Given the description of an element on the screen output the (x, y) to click on. 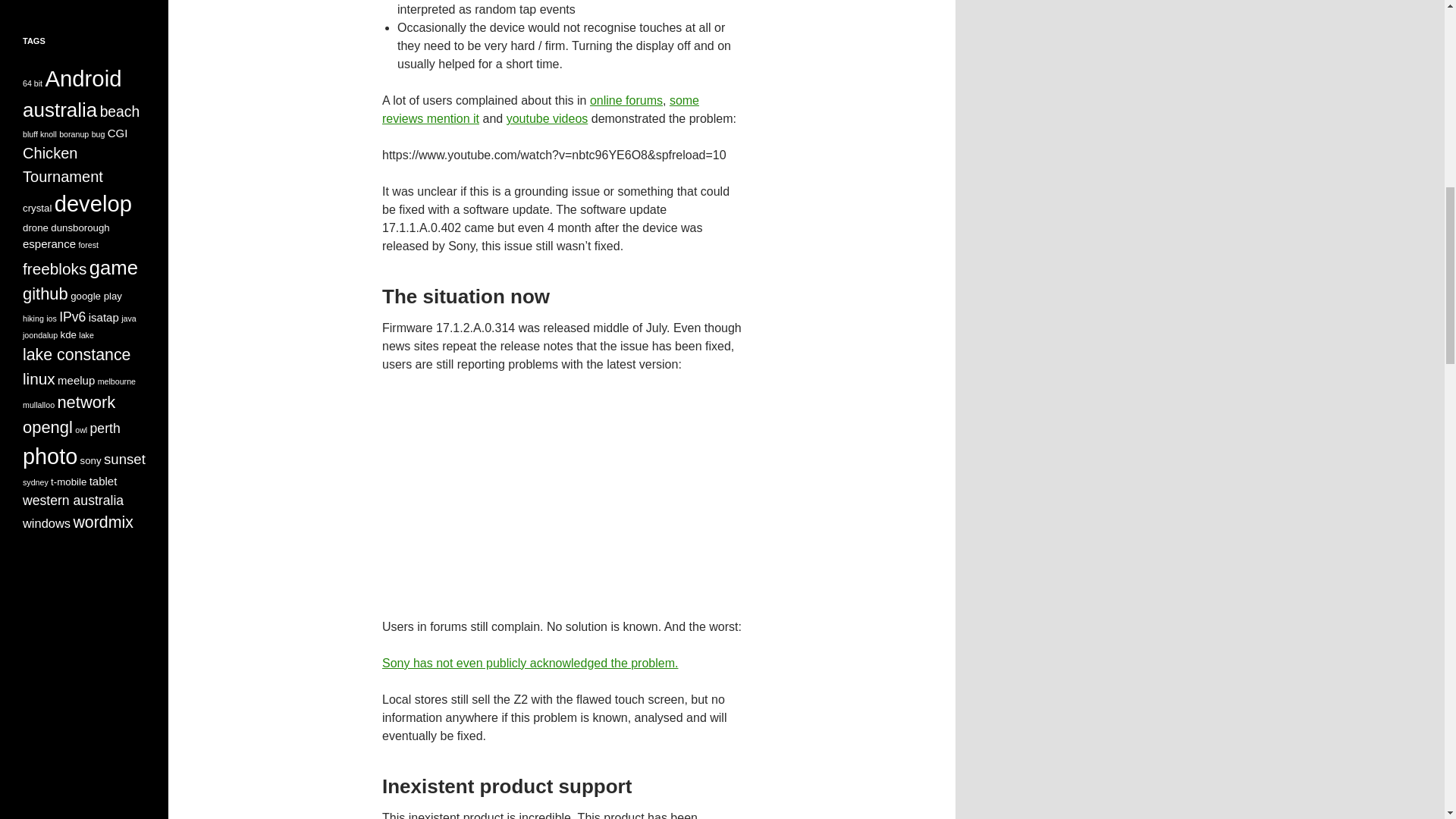
youtube videos (547, 118)
some reviews mention it (539, 109)
Sony has not even publicly acknowledged the problem. (529, 662)
online forums (625, 100)
Sony Z2 tablet touchscreen issue (561, 493)
